Given the description of an element on the screen output the (x, y) to click on. 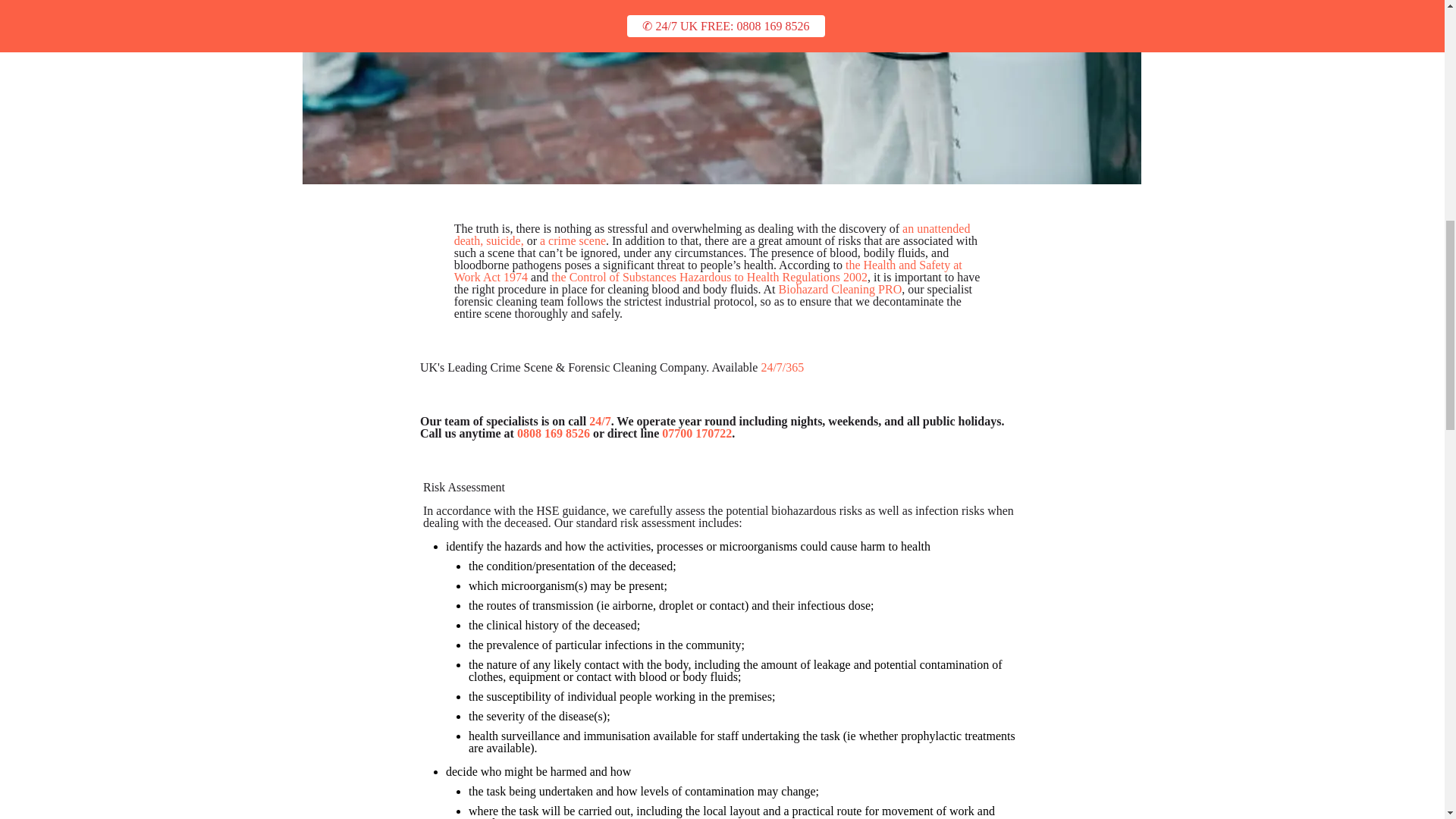
0808 169 8526 (552, 432)
07700 170722 (697, 432)
Biohazard Cleaning PRO (840, 288)
a crime scene (572, 240)
the Health and Safety at Work Act 1974 (708, 270)
an unattended death, suicide, (712, 234)
